Given the description of an element on the screen output the (x, y) to click on. 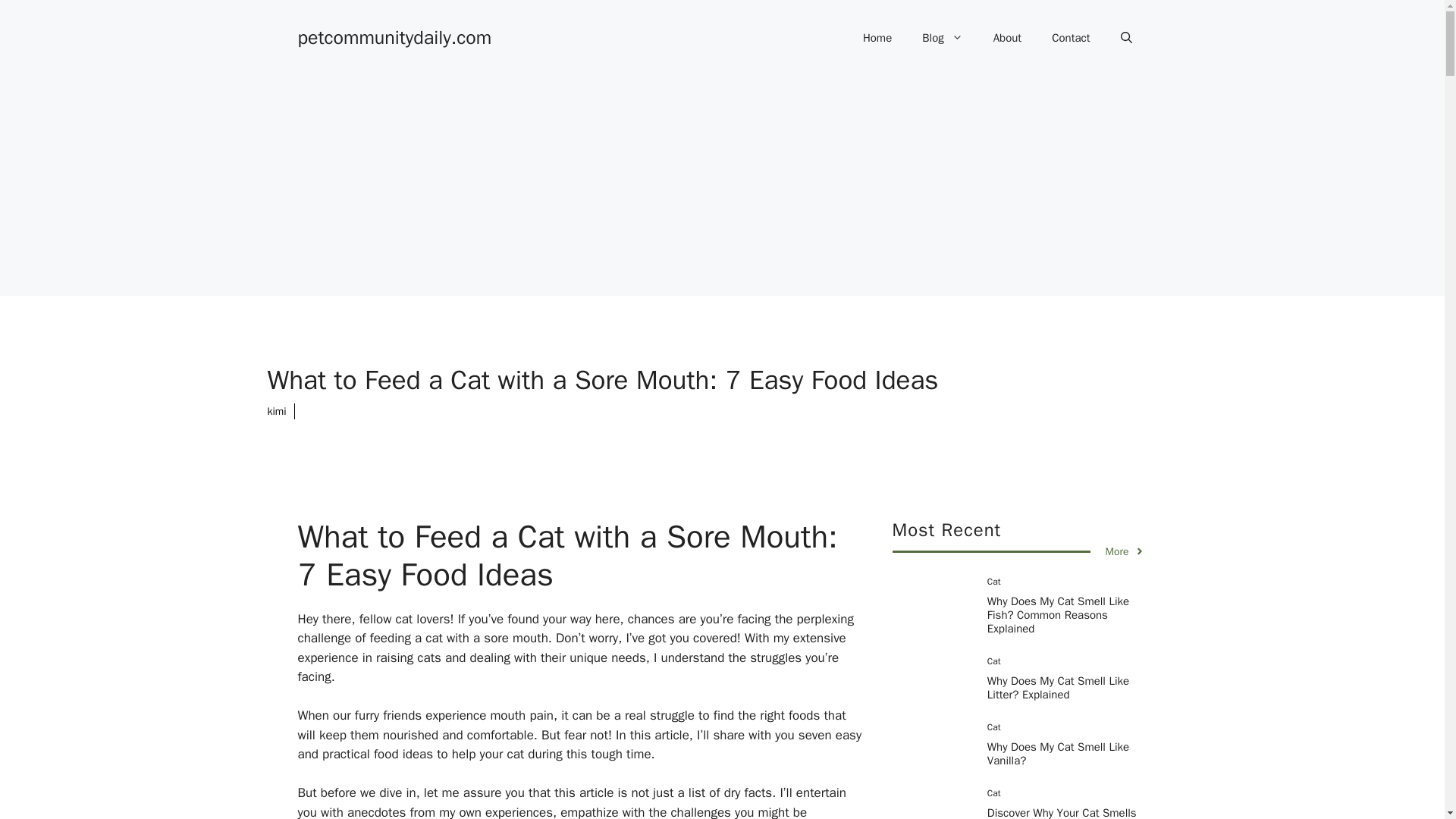
Contact (1070, 37)
Why Does My Cat Smell Like Vanilla? (1058, 753)
About (1007, 37)
Blog (941, 37)
Why Does My Cat Smell Like Litter? Explained (1058, 687)
Why Does My Cat Smell Like Fish? Common Reasons Explained (1058, 614)
kimi (275, 410)
petcommunitydaily.com (394, 37)
More (1124, 551)
Home (877, 37)
Discover Why Your Cat Smells Like Vinegar (1062, 812)
